Given the description of an element on the screen output the (x, y) to click on. 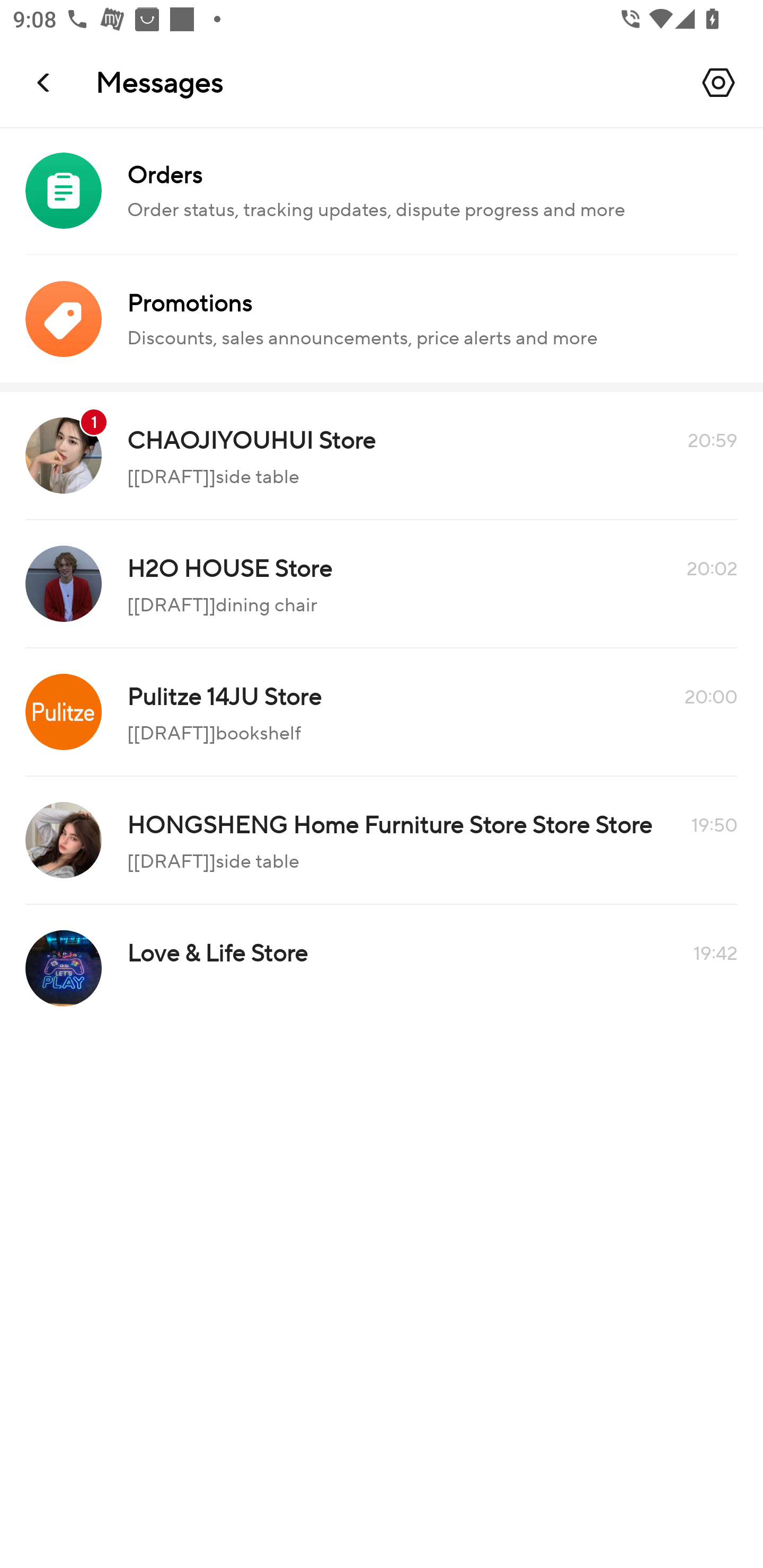
Navigate up (44, 82)
